Given the description of an element on the screen output the (x, y) to click on. 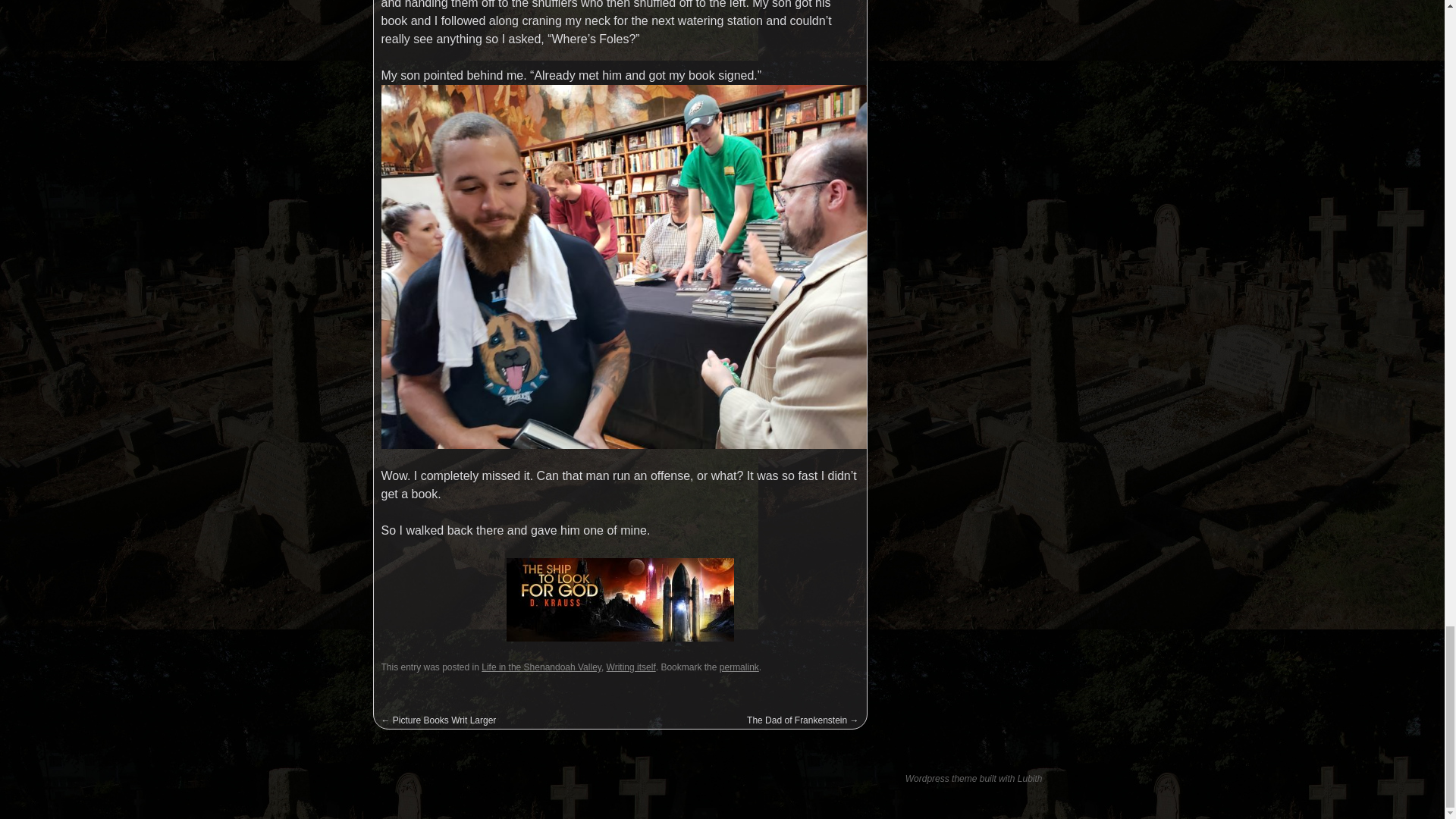
Wordpress Theme Generator (1029, 778)
permalink (738, 666)
Writing itself (631, 666)
Life in the Shenandoah Valley (541, 666)
Permalink to Nick of Time (738, 666)
Semantic Personal Publishing Platform (928, 778)
